Given the description of an element on the screen output the (x, y) to click on. 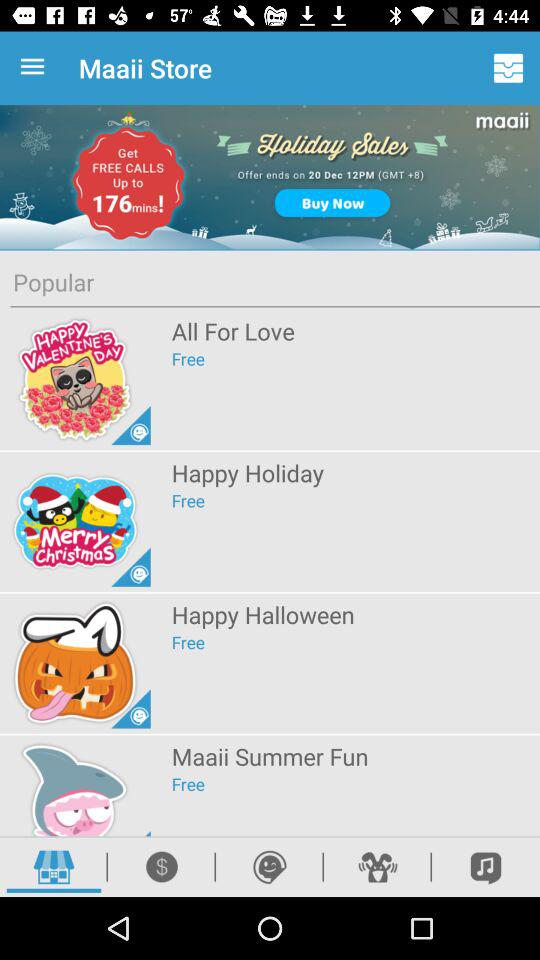
turn on the item next to the maaii store icon (508, 67)
